Given the description of an element on the screen output the (x, y) to click on. 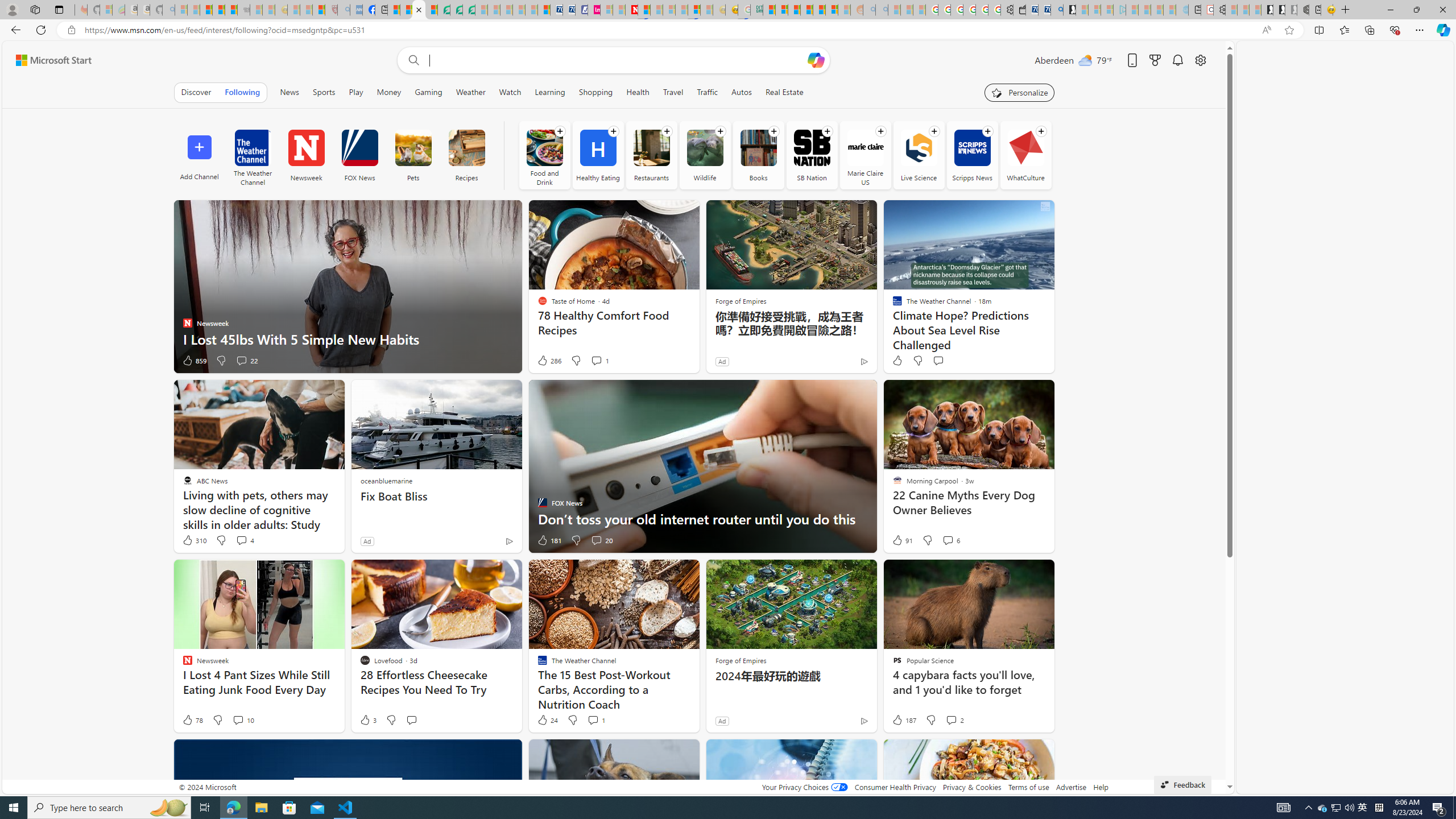
3 Like (367, 719)
LendingTree - Compare Lenders (443, 9)
Live Science (918, 155)
Books (758, 155)
Add Channel (199, 155)
